Given the description of an element on the screen output the (x, y) to click on. 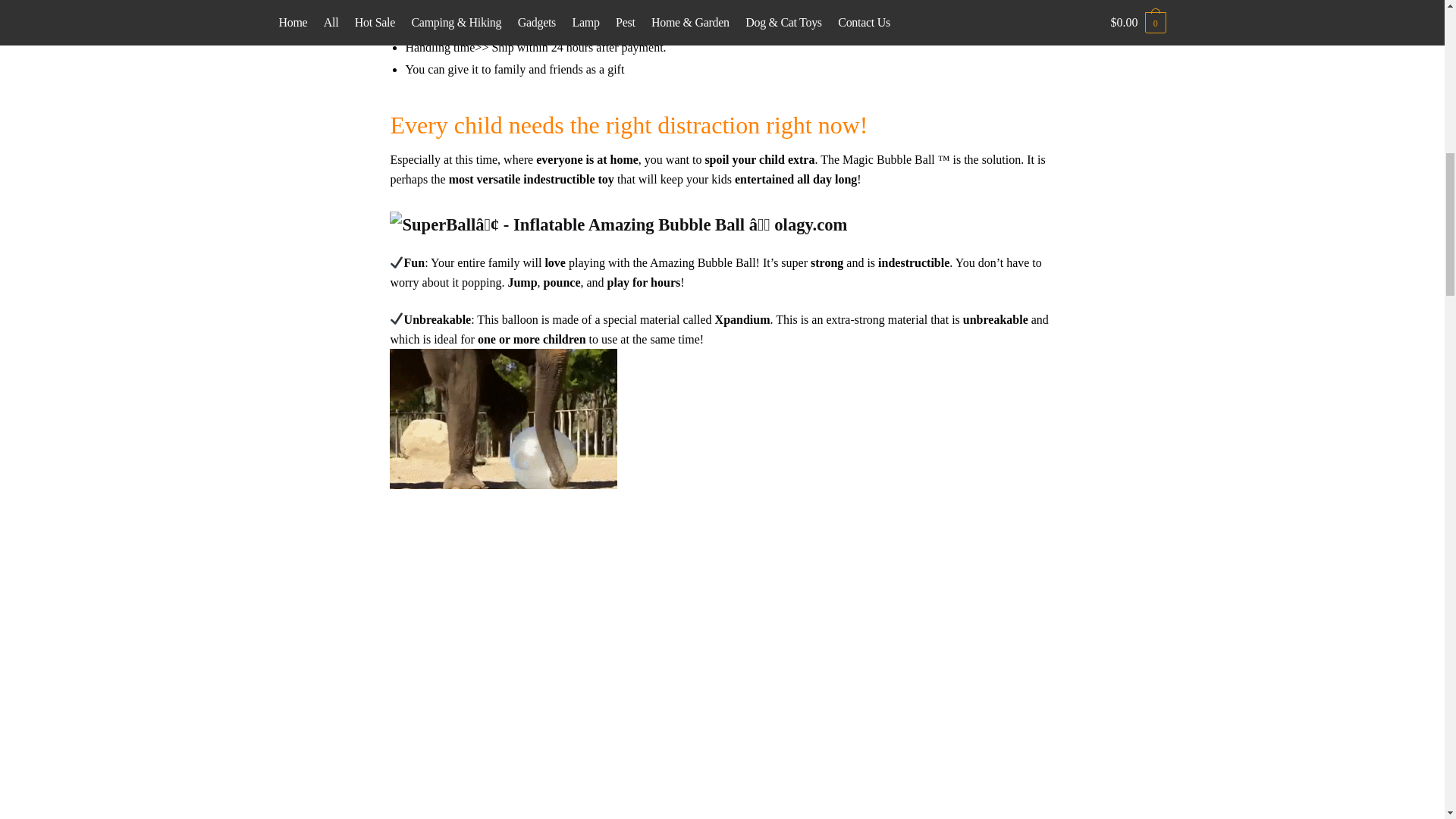
Description (679, 7)
